Given the description of an element on the screen output the (x, y) to click on. 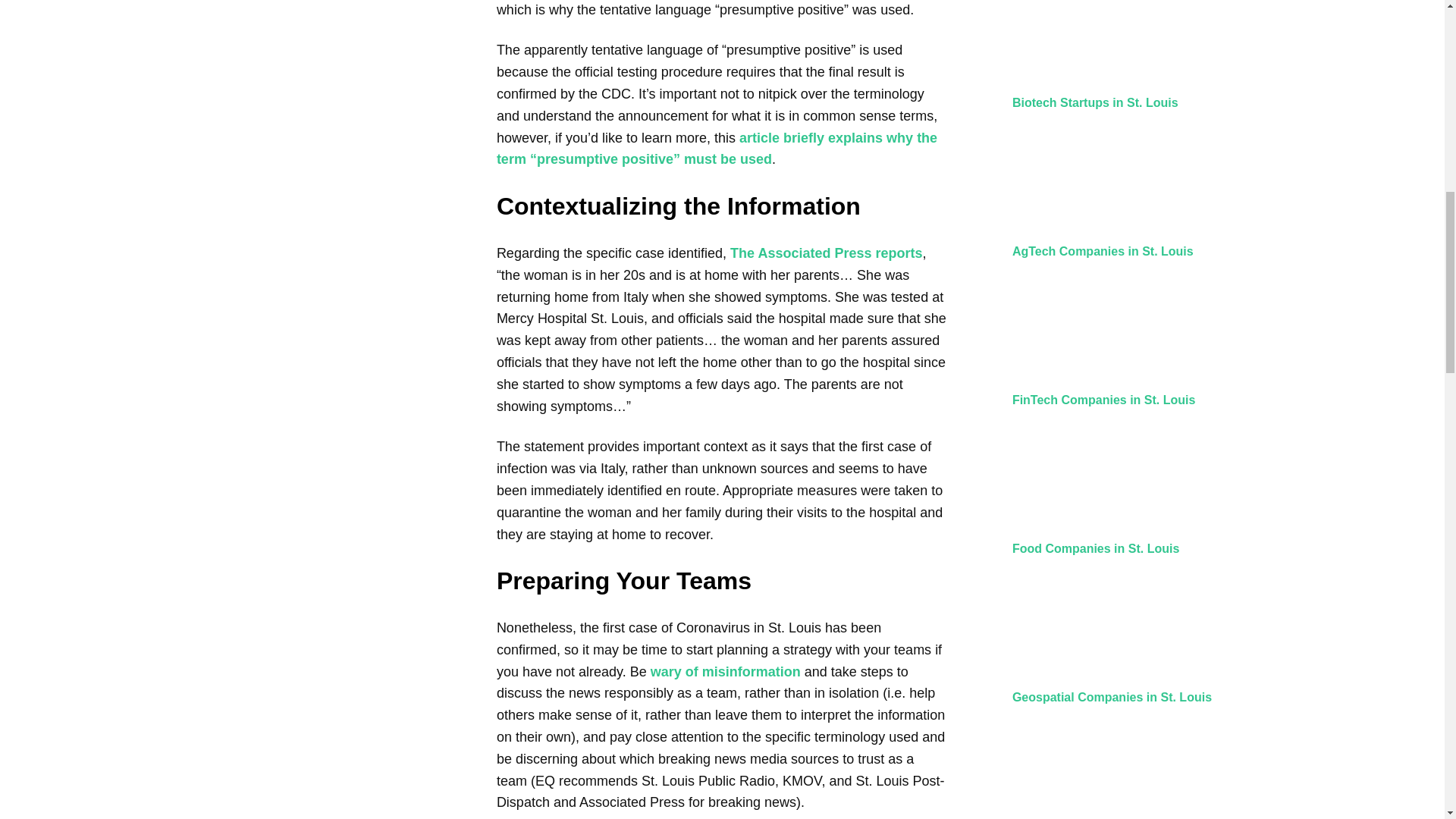
Biotech Startups in St. Louis (1094, 102)
The Associated Press reports (825, 253)
wary of misinformation (725, 671)
Geospatial Companies in St. Louis (1111, 697)
Food Companies in St. Louis (1095, 548)
AgTech Companies in St. Louis (1102, 250)
FinTech Companies in St. Louis (1103, 399)
